Given the description of an element on the screen output the (x, y) to click on. 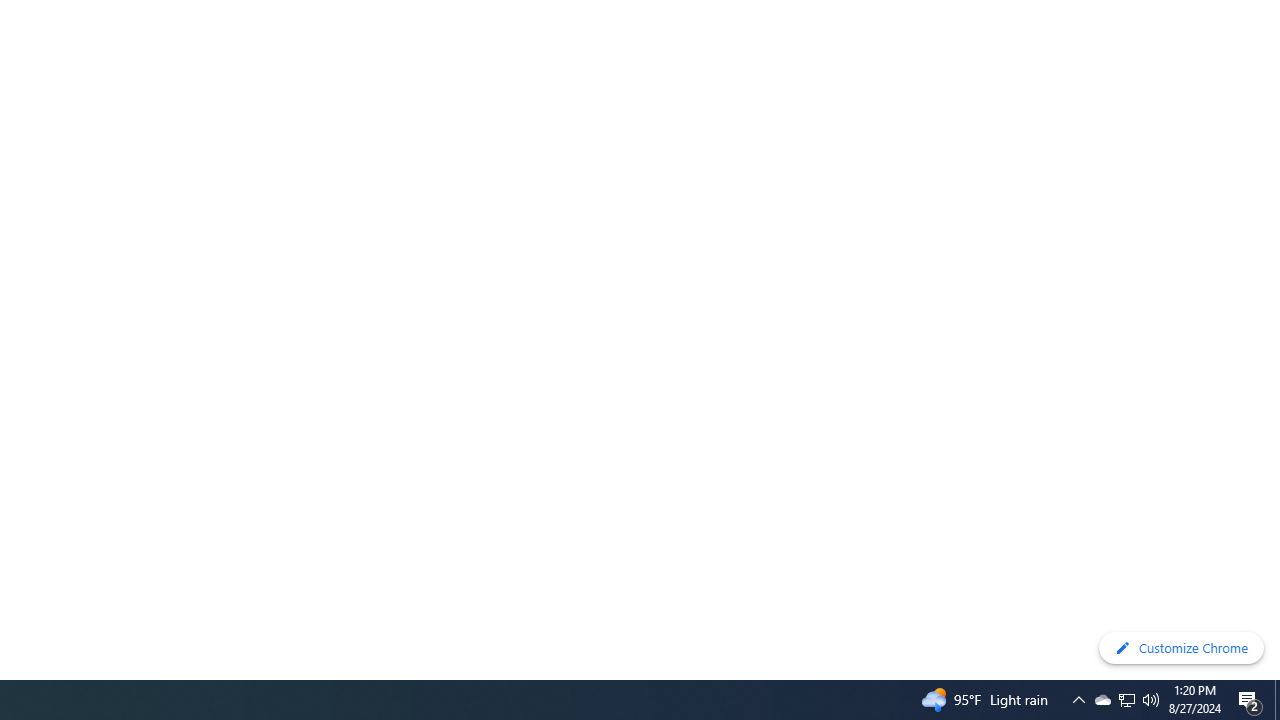
Customize Chrome (1181, 647)
